Given the description of an element on the screen output the (x, y) to click on. 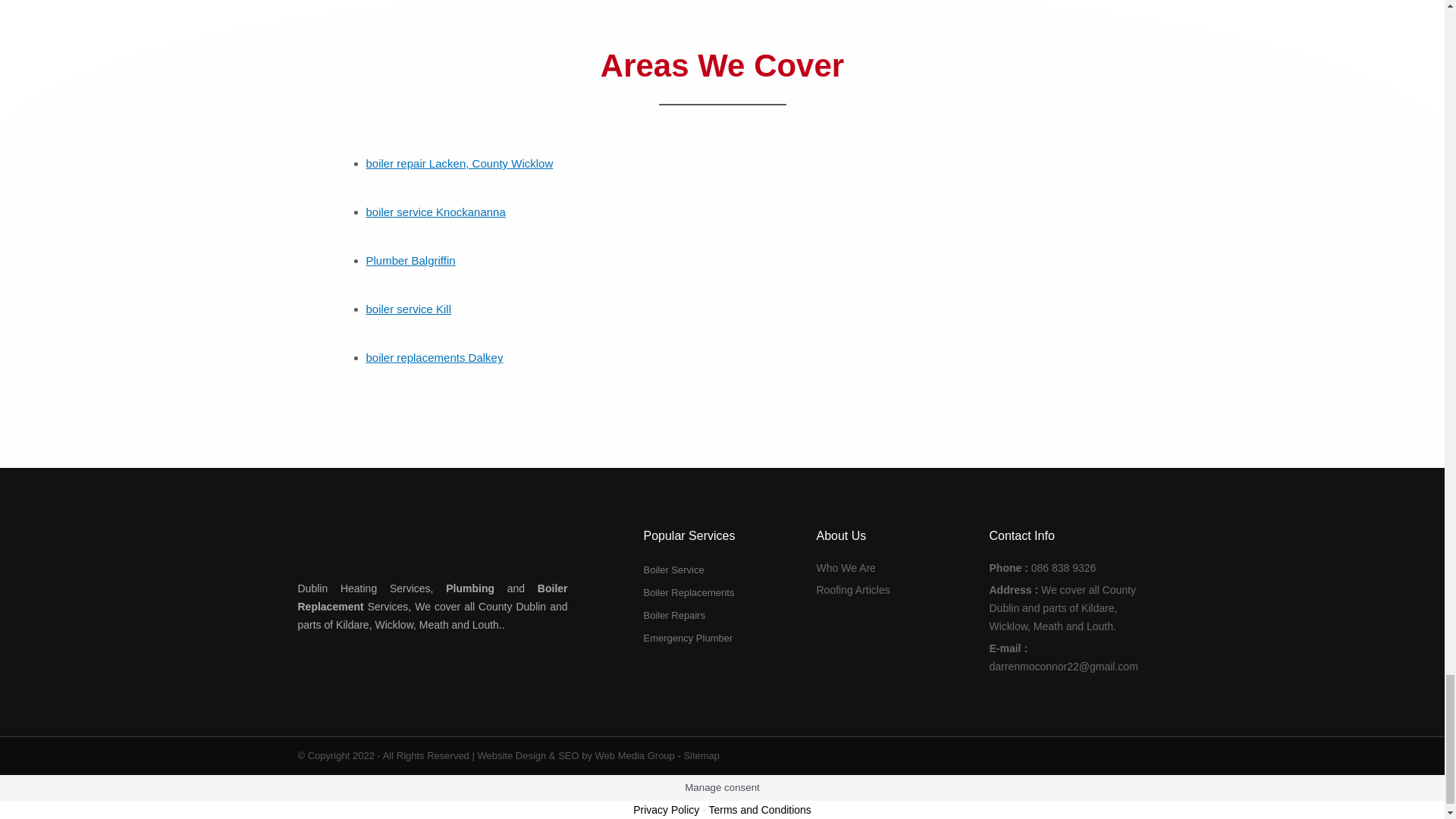
boiler service Knockananna (435, 211)
Boiler Service (721, 569)
boiler repair Lacken, County Wicklow (459, 163)
boiler repair Lacken, County Wicklow (459, 163)
boiler replacements Dalkey (433, 357)
Plumber Balgriffin (409, 259)
boiler service Knockananna (435, 211)
boiler service Kill (408, 308)
Plumber Balgriffin (409, 259)
boiler service Kill (408, 308)
